Given the description of an element on the screen output the (x, y) to click on. 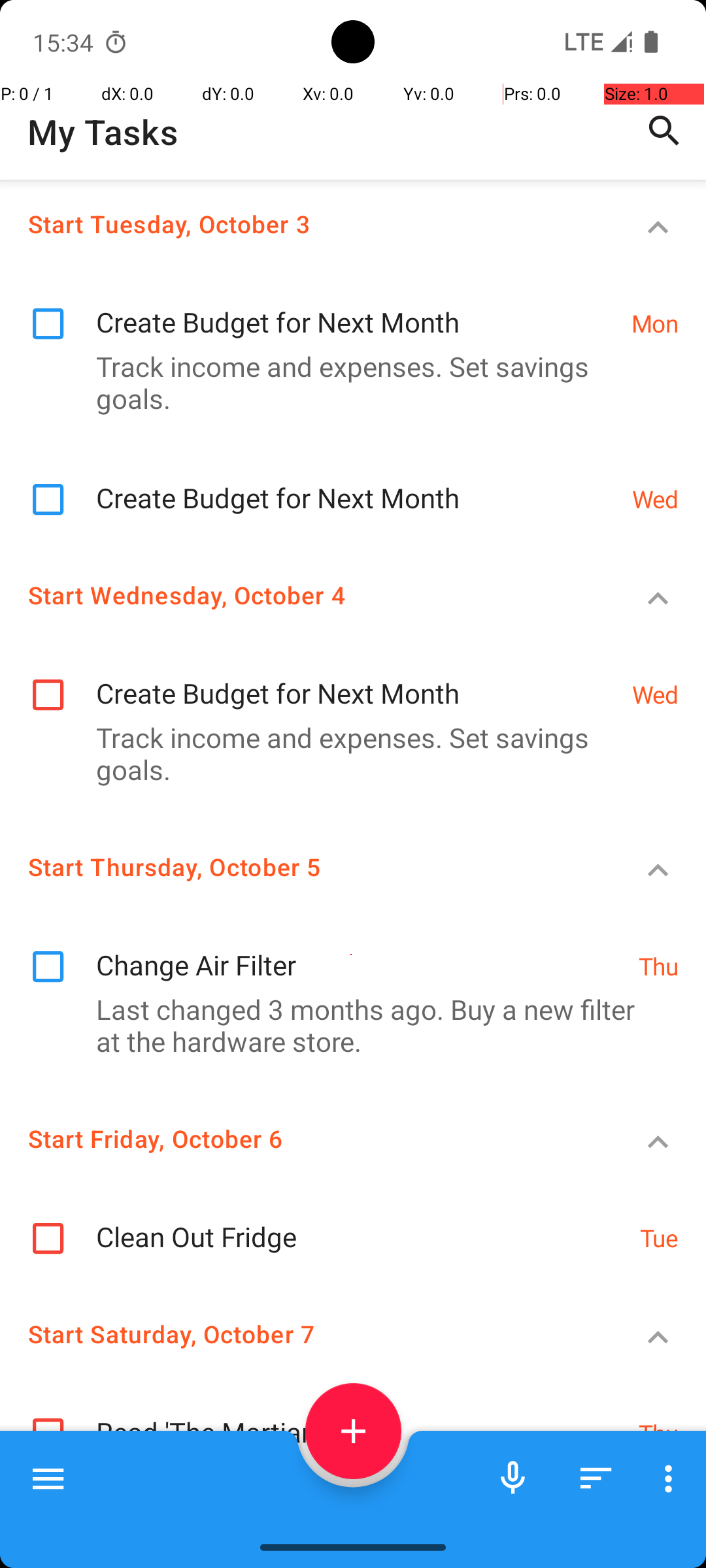
Start Tuesday, October 3 Element type: android.widget.TextView (304, 223)
Start Wednesday, October 4 Element type: android.widget.TextView (304, 594)
Start Thursday, October 5 Element type: android.widget.TextView (304, 866)
Start Friday, October 6 Element type: android.widget.TextView (304, 1138)
Start Saturday, October 7 Element type: android.widget.TextView (304, 1333)
Start Sunday, October 8 Element type: android.widget.TextView (304, 1505)
Track income and expenses. Set savings goals. Element type: android.widget.TextView (346, 381)
Last changed 3 months ago. Buy a new filter at the hardware store. Element type: android.widget.TextView (346, 1024)
